Given the description of an element on the screen output the (x, y) to click on. 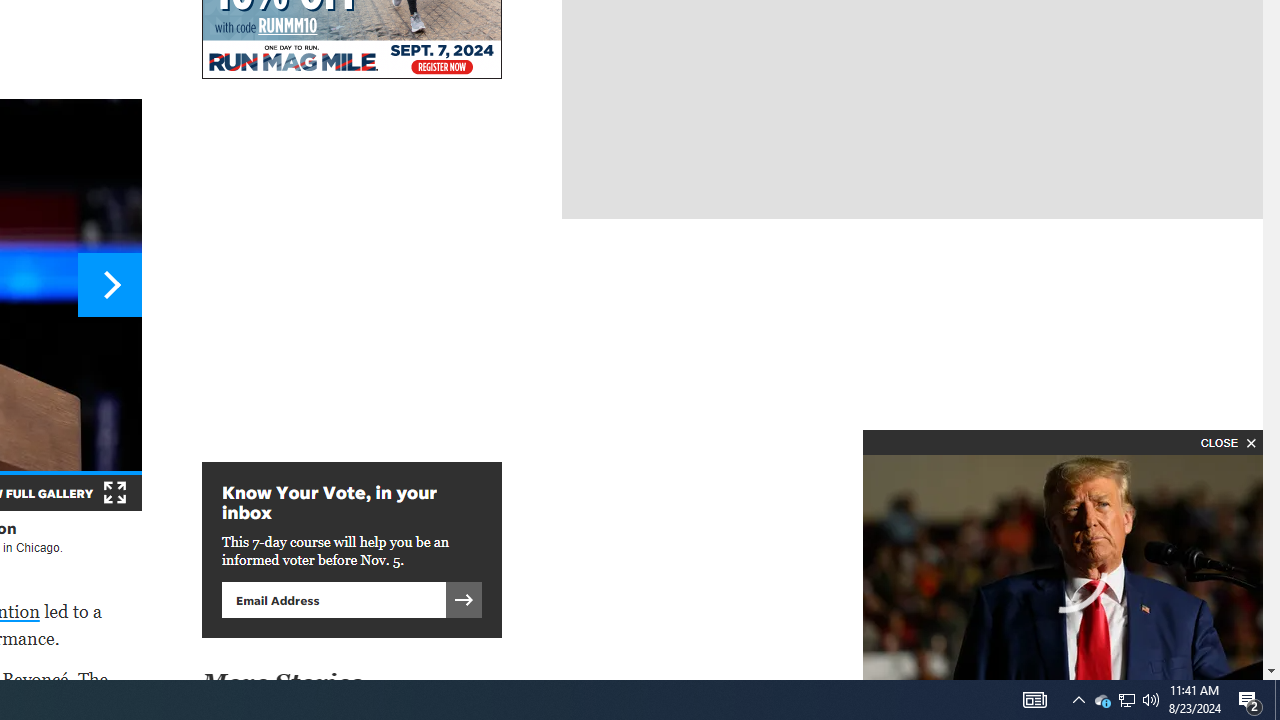
Submit to sign up for newsletter (463, 599)
Close autoplay video player (1226, 442)
Email address (333, 599)
